Given the description of an element on the screen output the (x, y) to click on. 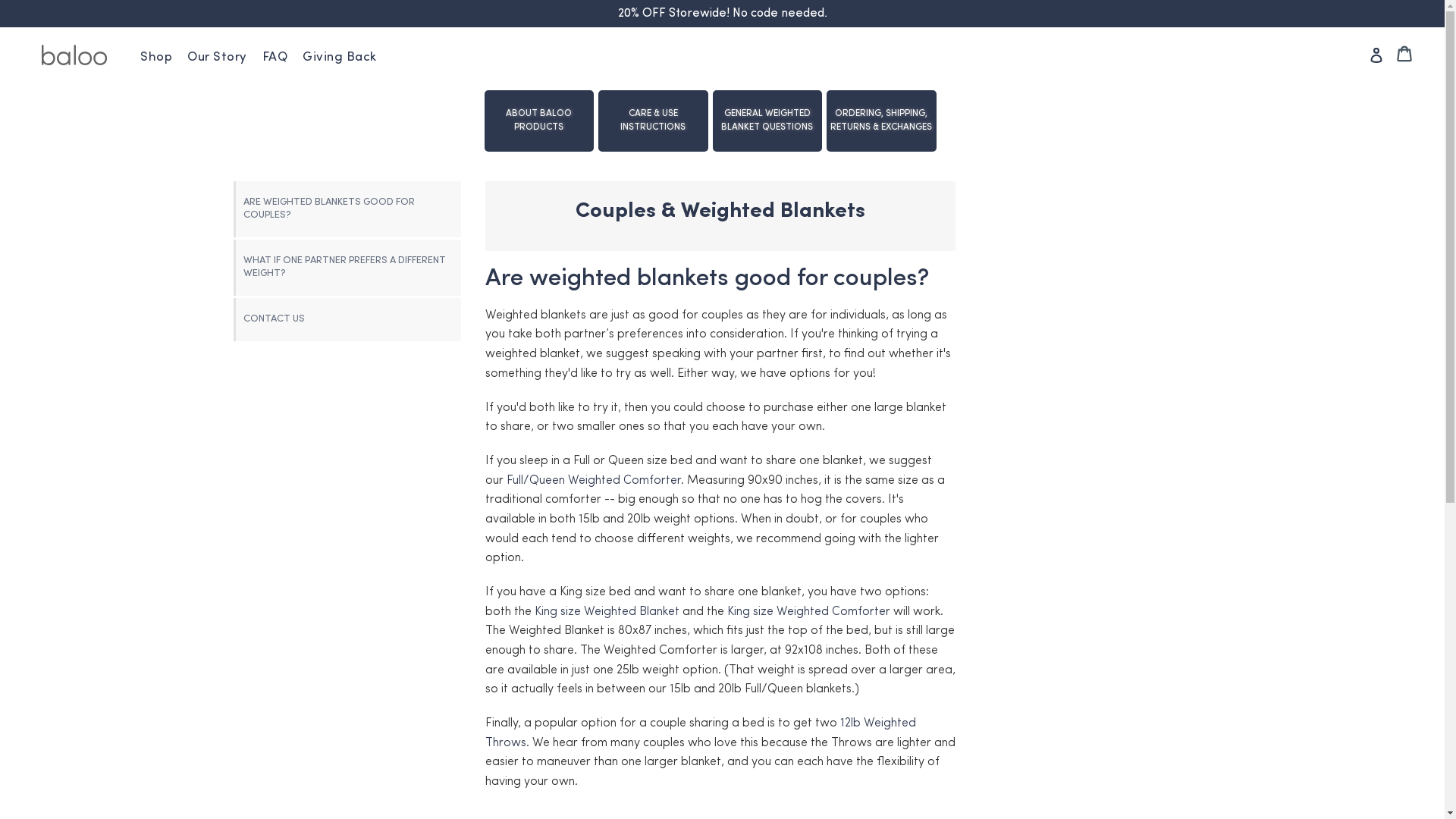
ORDERING, SHIPPING, RETURNS & EXCHANGES Element type: text (881, 120)
King size Weighted Blanket Element type: text (606, 611)
Shop Element type: text (155, 56)
Full/Queen Weighted Comforter Element type: text (593, 480)
12lb Weighted Throws Element type: text (700, 733)
ARE WEIGHTED BLANKETS GOOD FOR COUPLES? Element type: text (347, 209)
GENERAL WEIGHTED BLANKET QUESTIONS Element type: text (767, 120)
Giving Back Element type: text (339, 56)
FAQ Element type: text (274, 56)
King size Weighted Comforter Element type: text (808, 611)
Cart Element type: text (1405, 52)
WHAT IF ONE PARTNER PREFERS A DIFFERENT WEIGHT? Element type: text (347, 267)
CARE & USE INSTRUCTIONS Element type: text (653, 120)
Our Story Element type: text (216, 56)
ABOUT BALOO PRODUCTS Element type: text (539, 120)
Log in Element type: text (1375, 53)
CONTACT US Element type: text (347, 319)
